Given the description of an element on the screen output the (x, y) to click on. 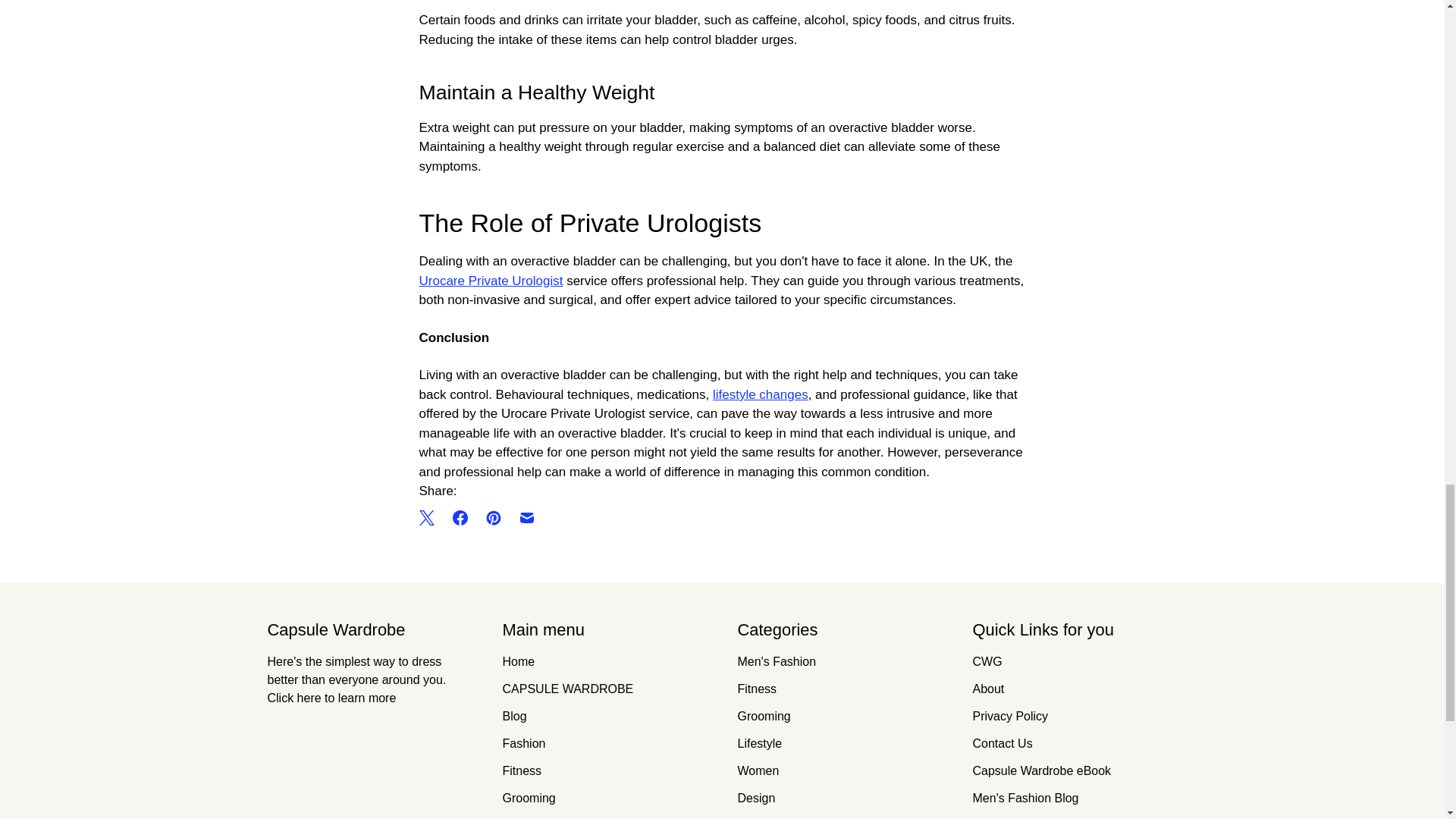
Share this on Facebook (459, 517)
Click here to learn more (331, 697)
Home (518, 661)
lifestyle changes (760, 394)
Fitness (521, 770)
Share this on Pinterest (492, 517)
CAPSULE WARDROBE (567, 688)
Blog (513, 716)
Grooming (528, 797)
Fashion (523, 743)
Email this to a friend (526, 517)
Urocare Private Urologist (490, 280)
